Given the description of an element on the screen output the (x, y) to click on. 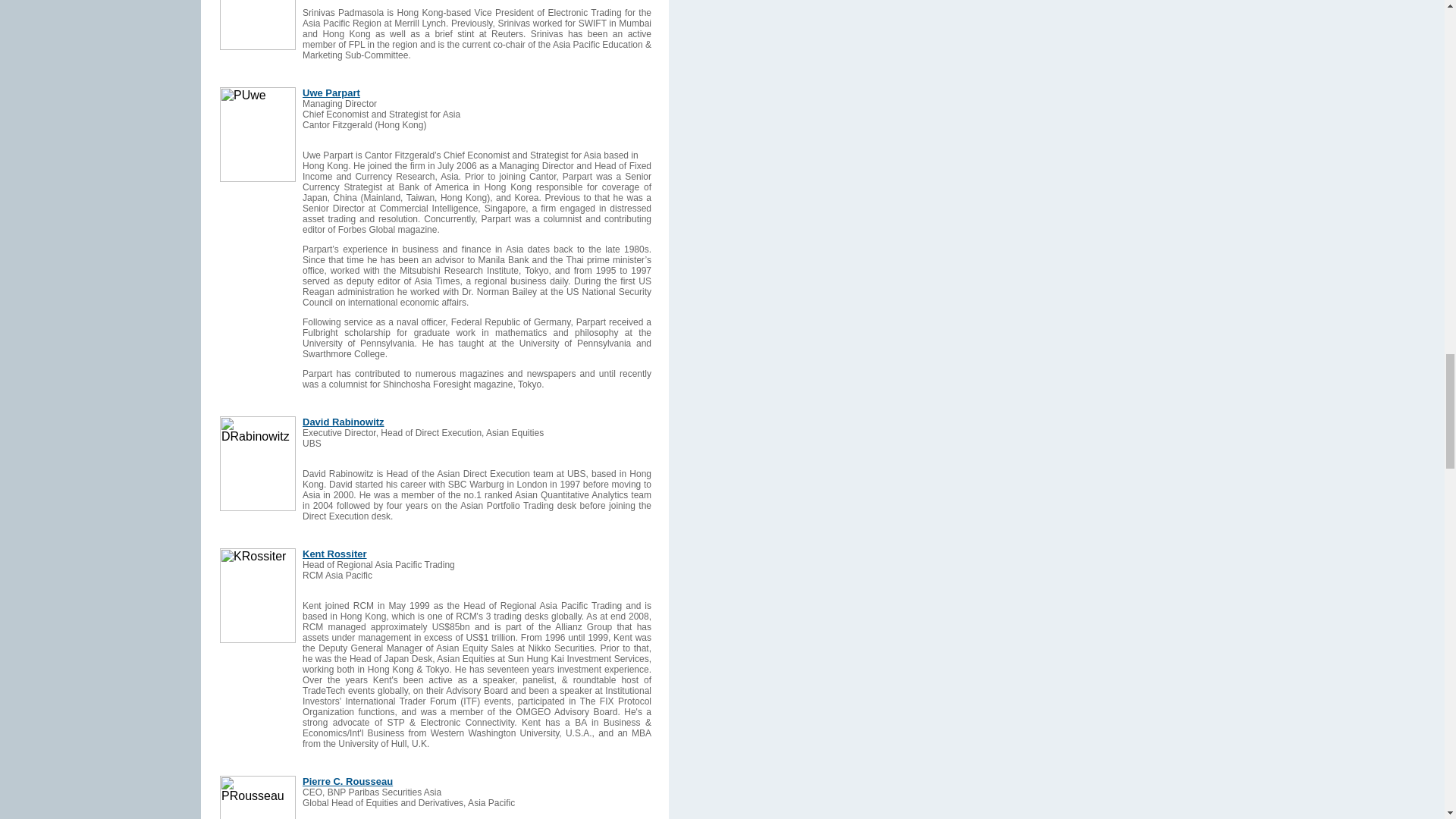
Uwe Parpart (330, 92)
David Rabinowitz (343, 421)
Pierre C. Rousseau (347, 781)
Kent Rossiter (334, 553)
